Given the description of an element on the screen output the (x, y) to click on. 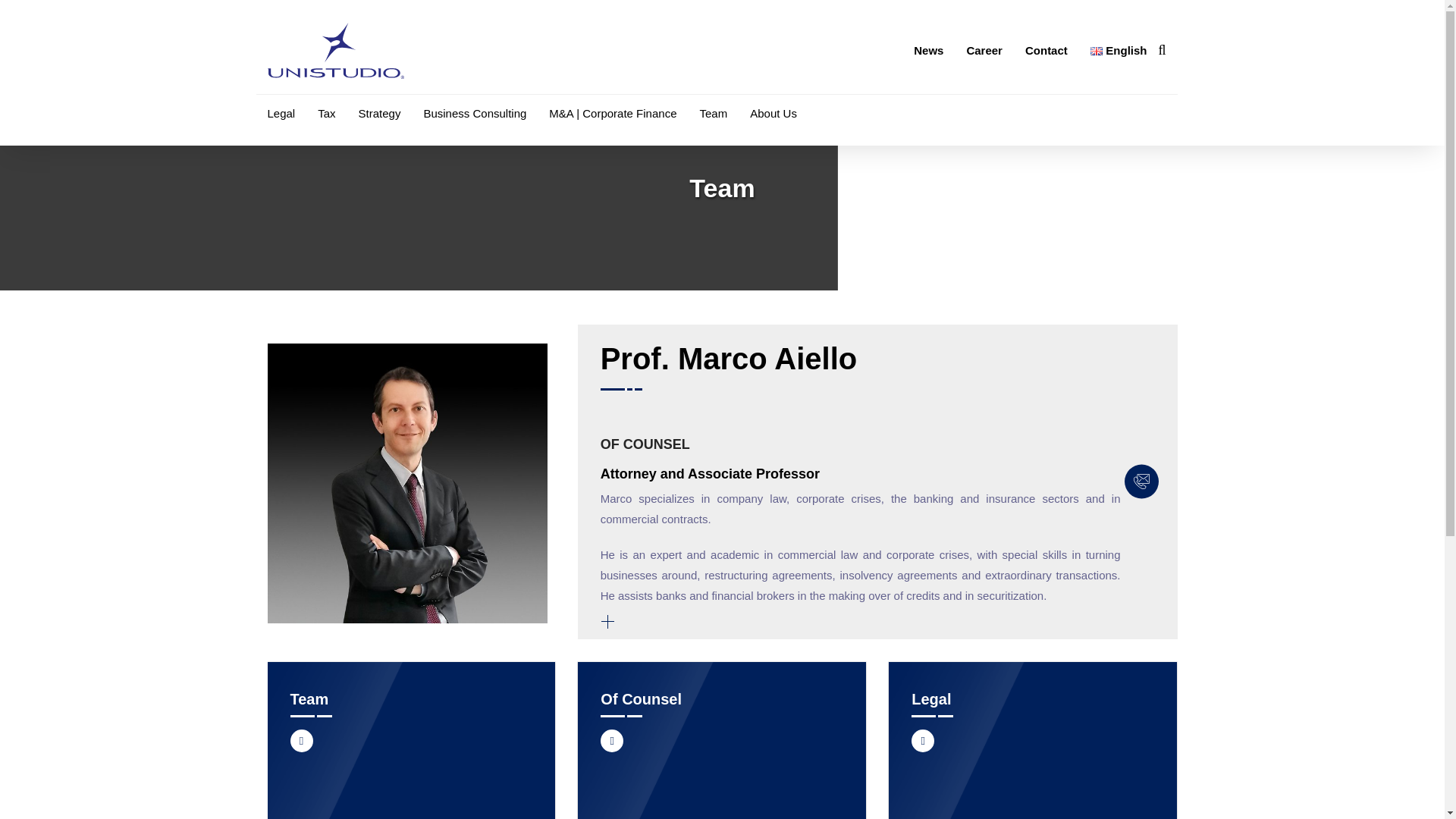
English (1096, 50)
Strategy (379, 113)
English (1118, 50)
Team (712, 113)
About Us (772, 113)
News (928, 50)
Tax (325, 113)
Of Counsel (640, 699)
Legal (280, 113)
Contact (1046, 50)
Career (984, 50)
Business Consulting (474, 113)
English (1118, 50)
Contact (1046, 50)
News (928, 50)
